Given the description of an element on the screen output the (x, y) to click on. 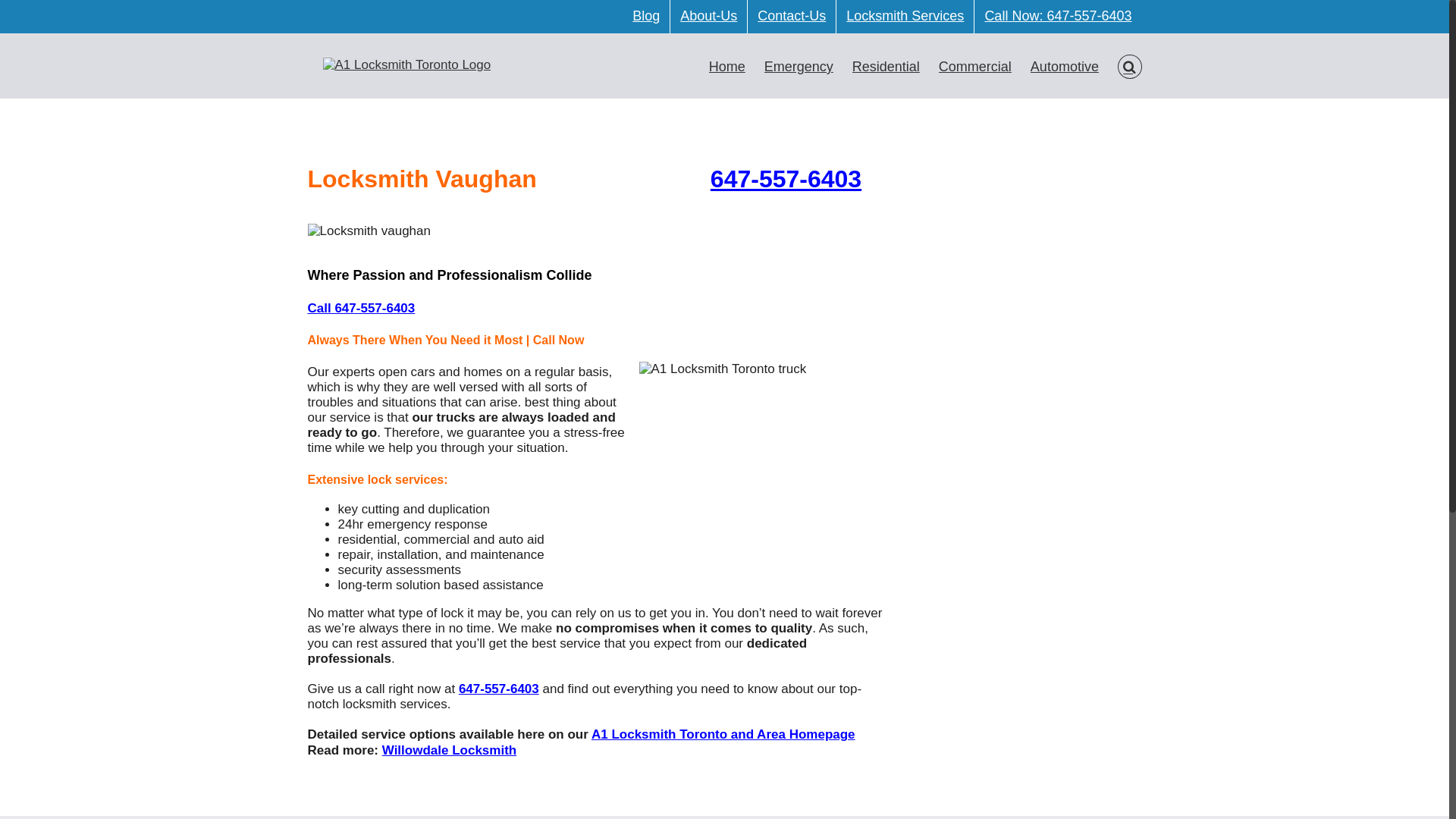
Contact-Us Element type: text (791, 16)
Willowdale Locksmith Element type: text (449, 750)
647-557-6403 Element type: text (498, 688)
Emergency Element type: text (798, 65)
Skip to content Element type: text (0, 0)
647-557-6403 Element type: text (785, 178)
Home Element type: text (727, 65)
Locksmith Services Element type: text (904, 16)
Commercial Element type: text (974, 65)
Blog Element type: text (645, 16)
About-Us Element type: text (708, 16)
A1 Locksmith Toronto and Area Homepage Element type: text (723, 734)
Automotive Element type: text (1064, 65)
Call 647-557-6403 Element type: text (361, 308)
Residential Element type: text (885, 65)
Call Now: 647-557-6403 Element type: text (1057, 16)
